Given the description of an element on the screen output the (x, y) to click on. 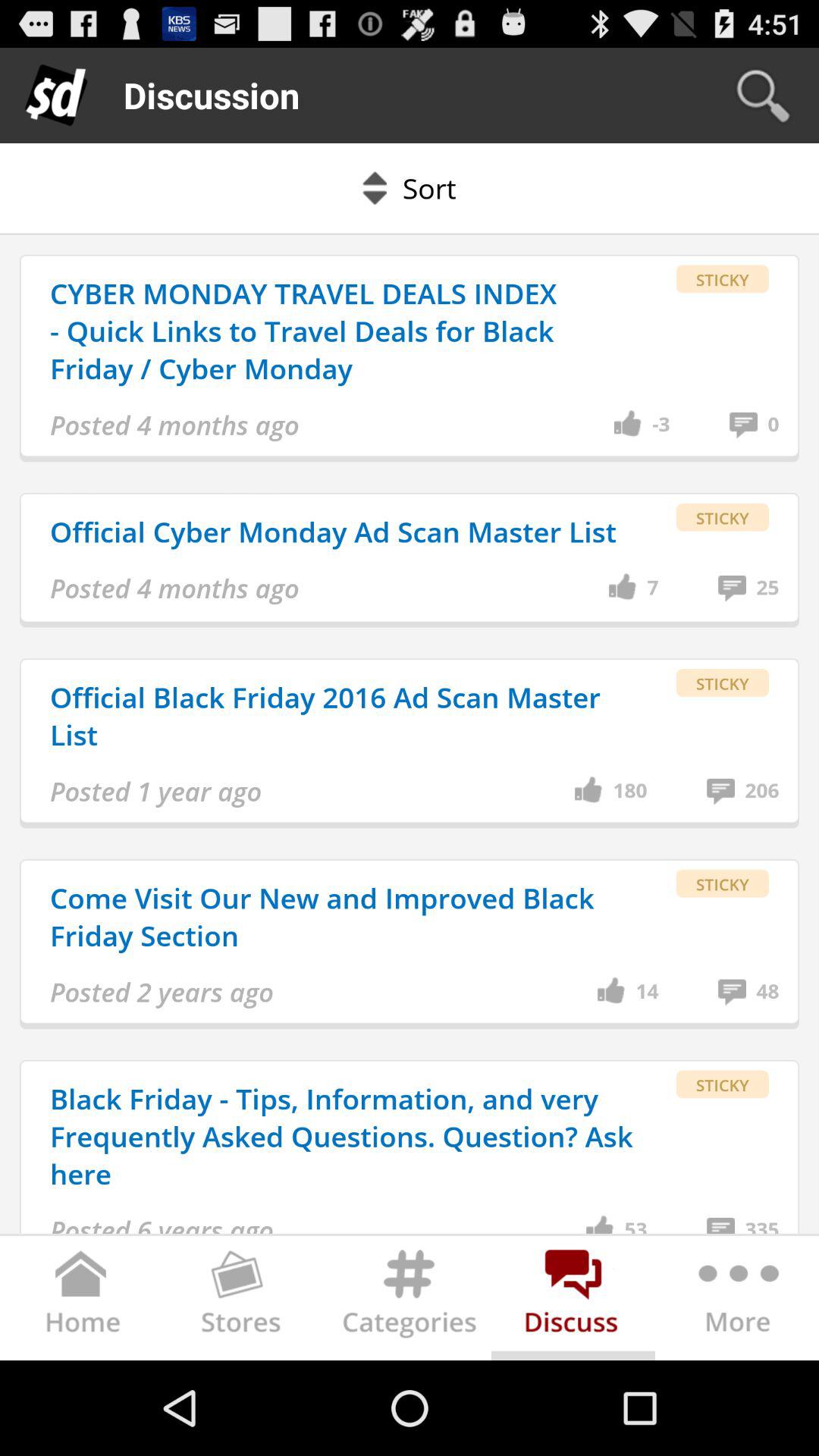
turn on the 180 (630, 791)
